Given the description of an element on the screen output the (x, y) to click on. 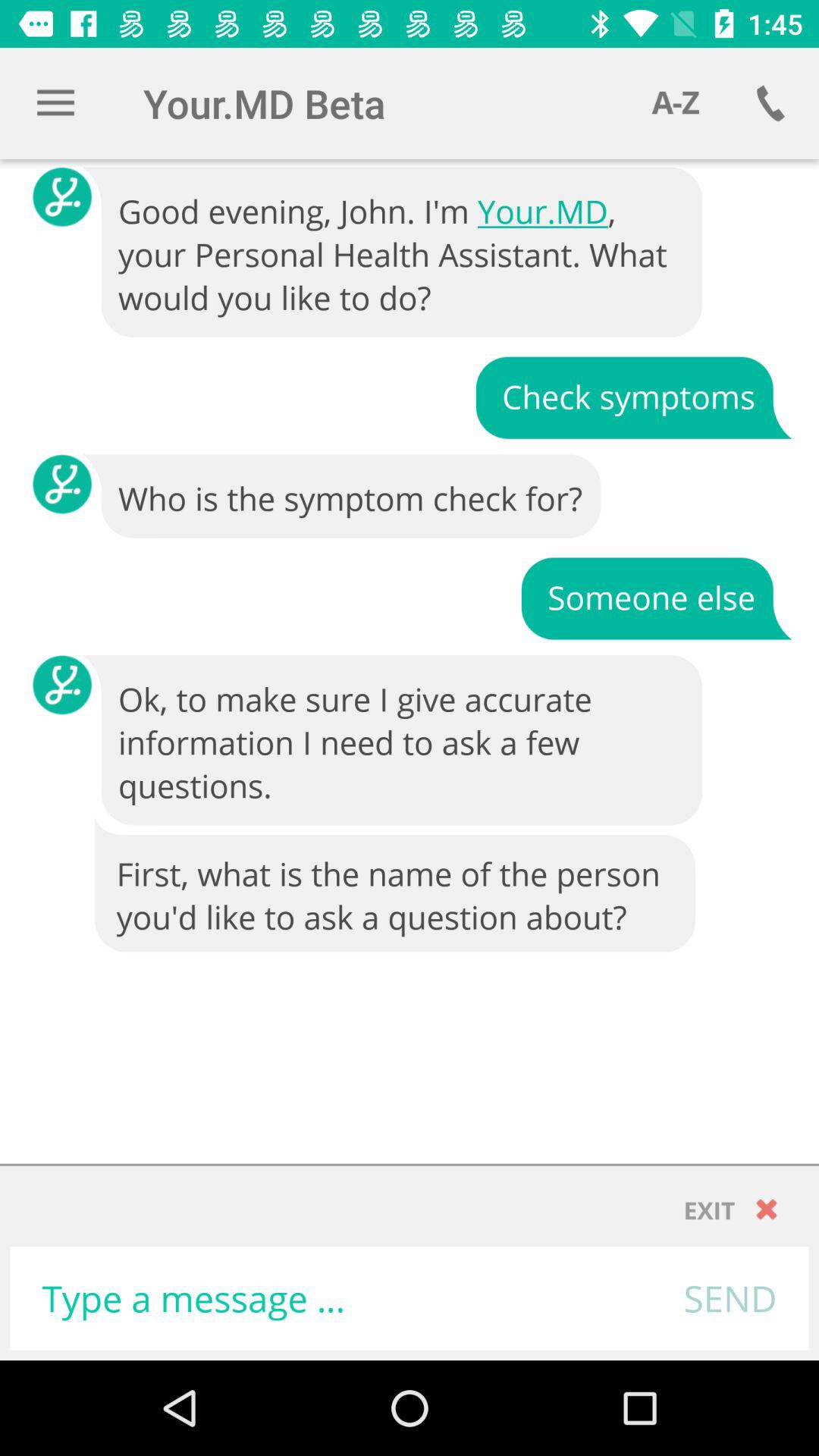
select the good evening john item (393, 252)
